Given the description of an element on the screen output the (x, y) to click on. 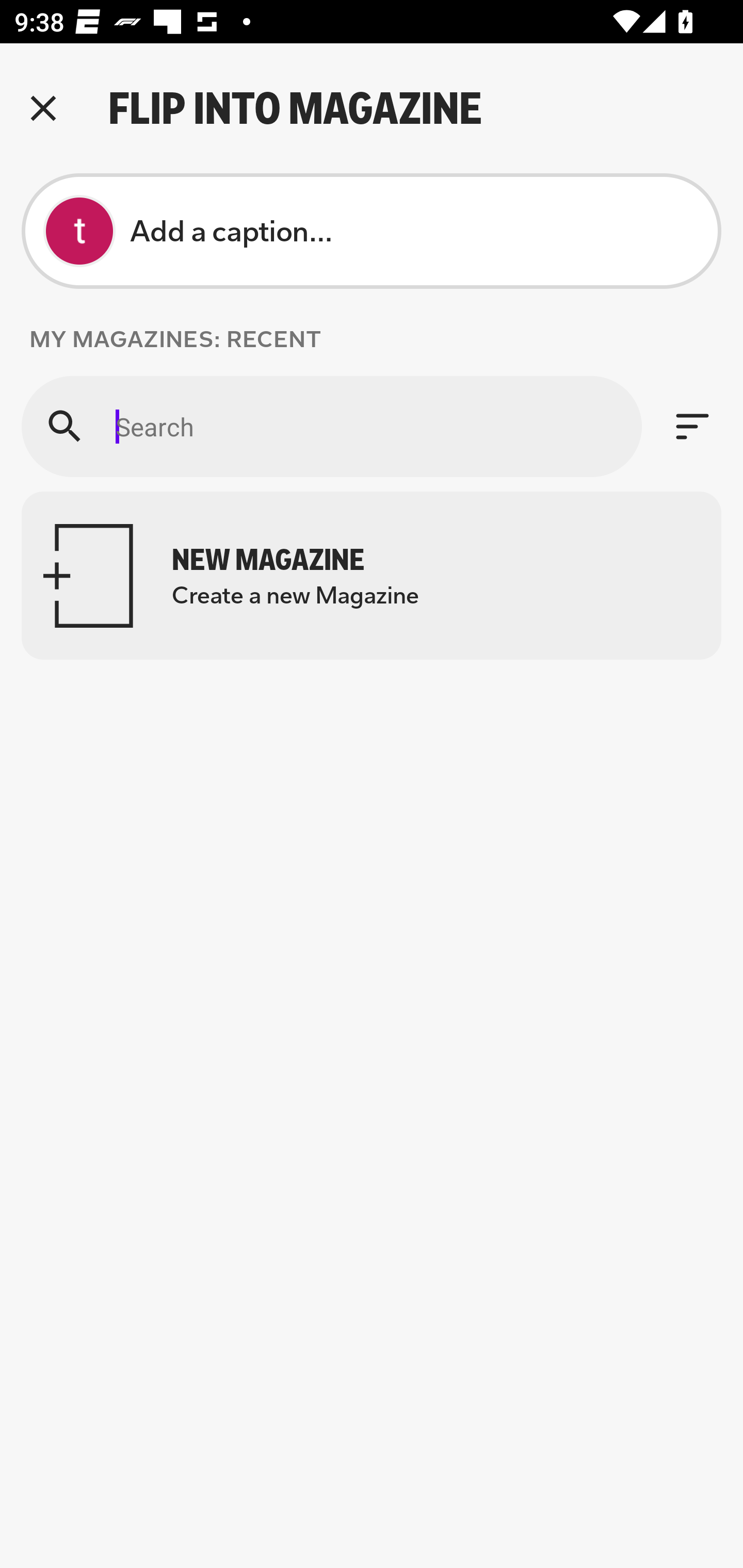
test appium Add a caption… (371, 231)
Search (331, 426)
NEW MAGAZINE Create a new Magazine (371, 575)
